Given the description of an element on the screen output the (x, y) to click on. 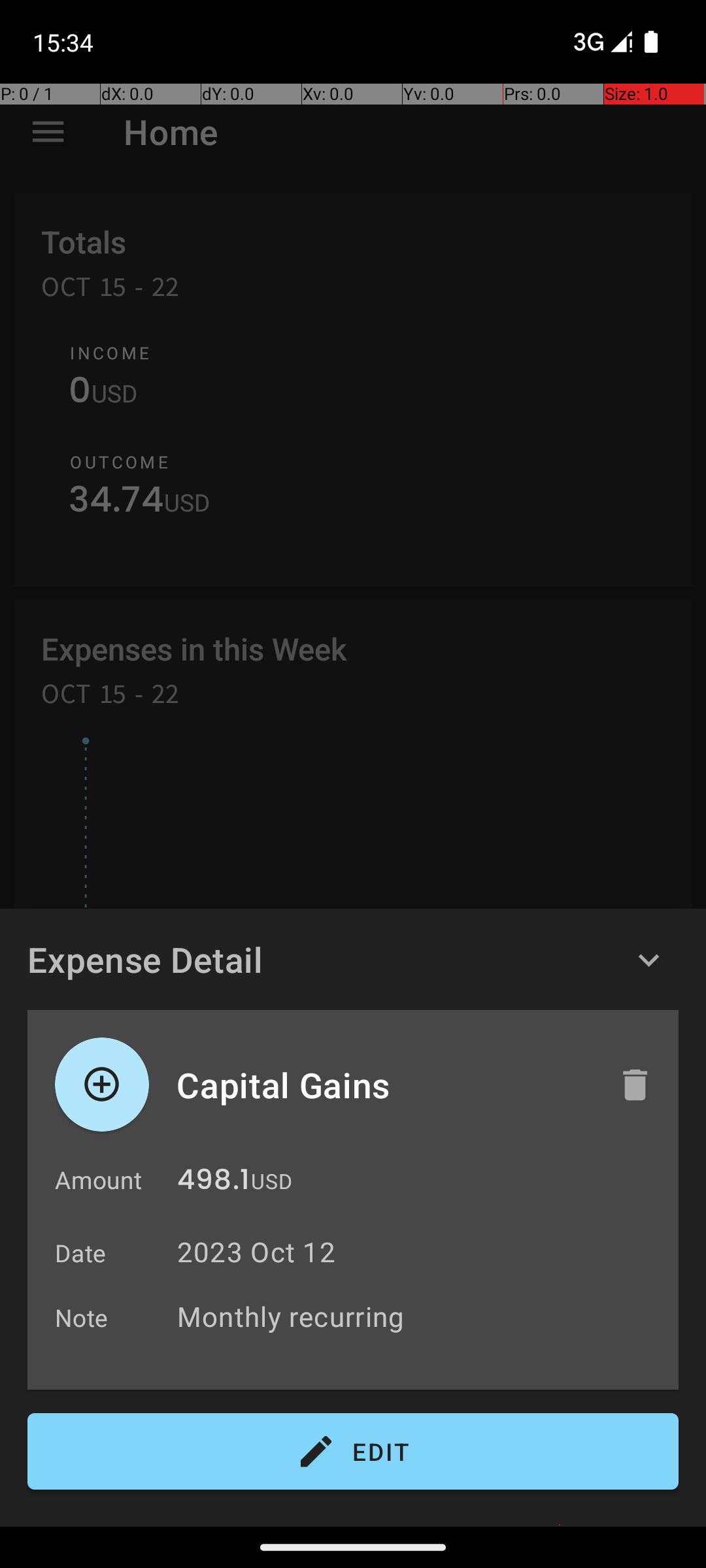
Expense Detail Element type: android.widget.TextView (145, 959)
Capital Gains Element type: android.widget.TextView (383, 1084)
Amount Element type: android.widget.TextView (97, 1179)
498.1 Element type: android.widget.TextView (213, 1182)
Date Element type: android.widget.TextView (80, 1252)
2023 Oct 12 Element type: android.widget.TextView (256, 1251)
Note Element type: android.widget.TextView (81, 1317)
Monthly recurring Element type: android.widget.TextView (420, 1315)
EDIT Element type: android.widget.Button (352, 1451)
